Given the description of an element on the screen output the (x, y) to click on. 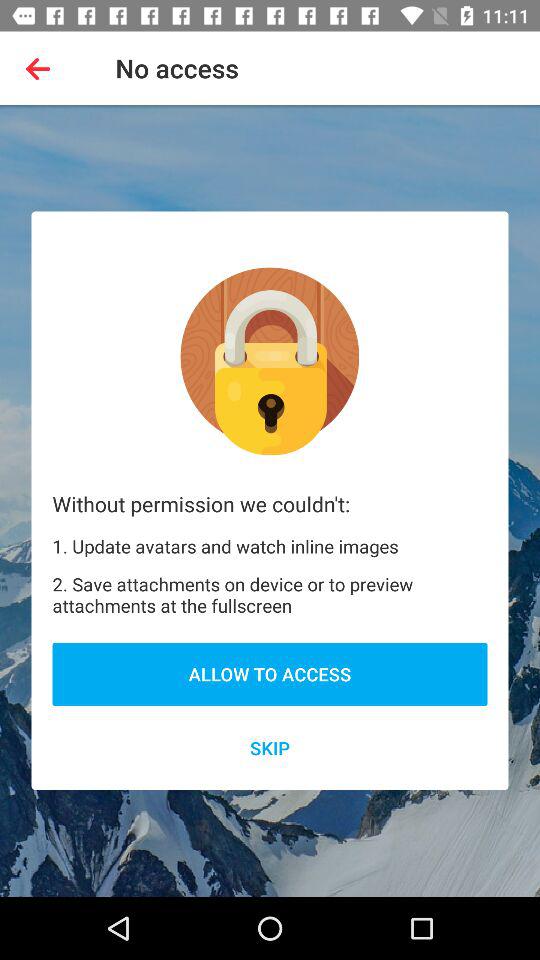
turn on allow to access icon (269, 673)
